Given the description of an element on the screen output the (x, y) to click on. 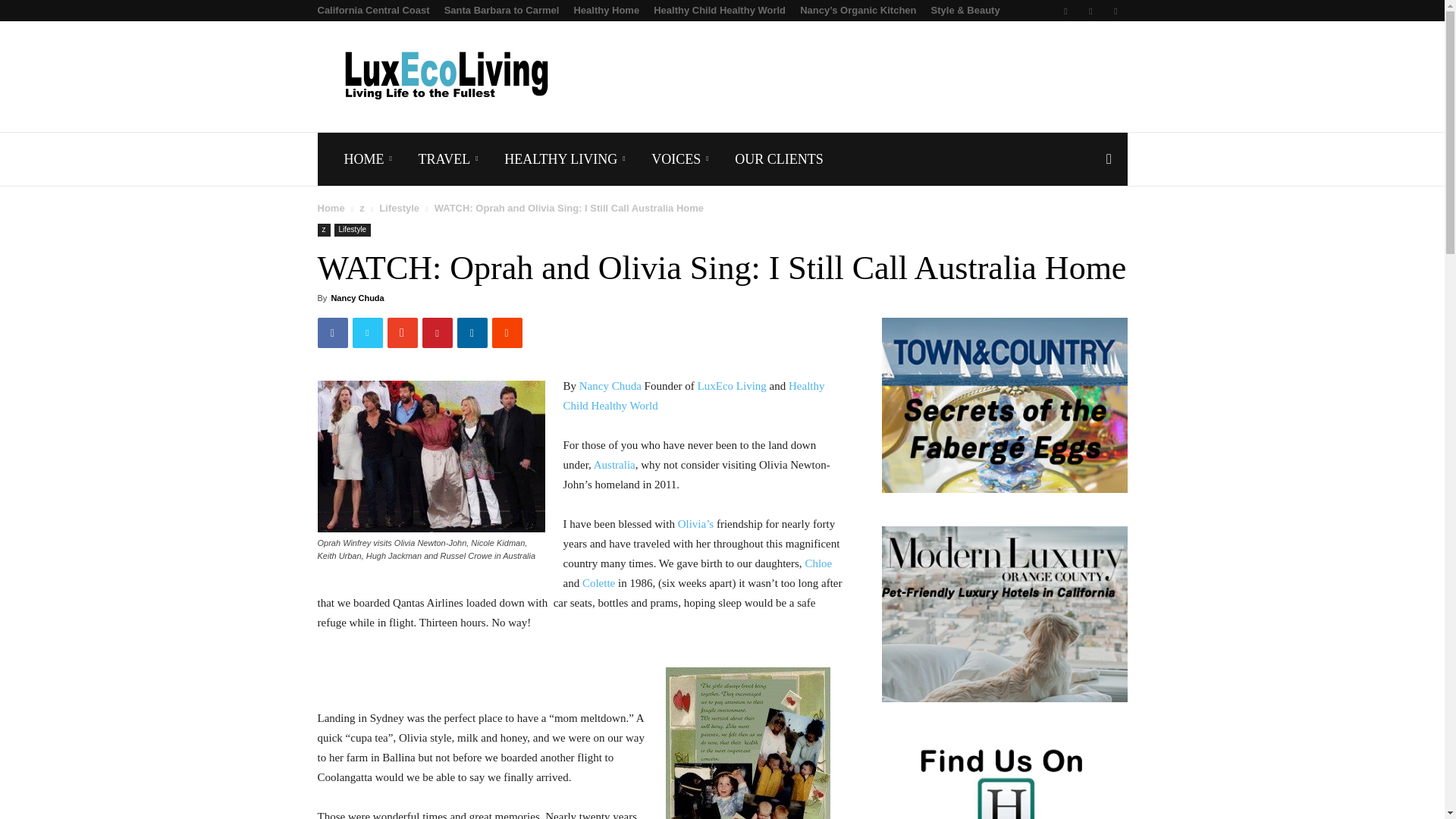
California Central Coast (373, 9)
Twitter (1090, 10)
Healthy Home (606, 9)
Healthy Child Healthy World (719, 9)
Facebook (1065, 10)
Santa Barbara to Carmel (501, 9)
Youtube (1114, 10)
HOME (370, 158)
